Given the description of an element on the screen output the (x, y) to click on. 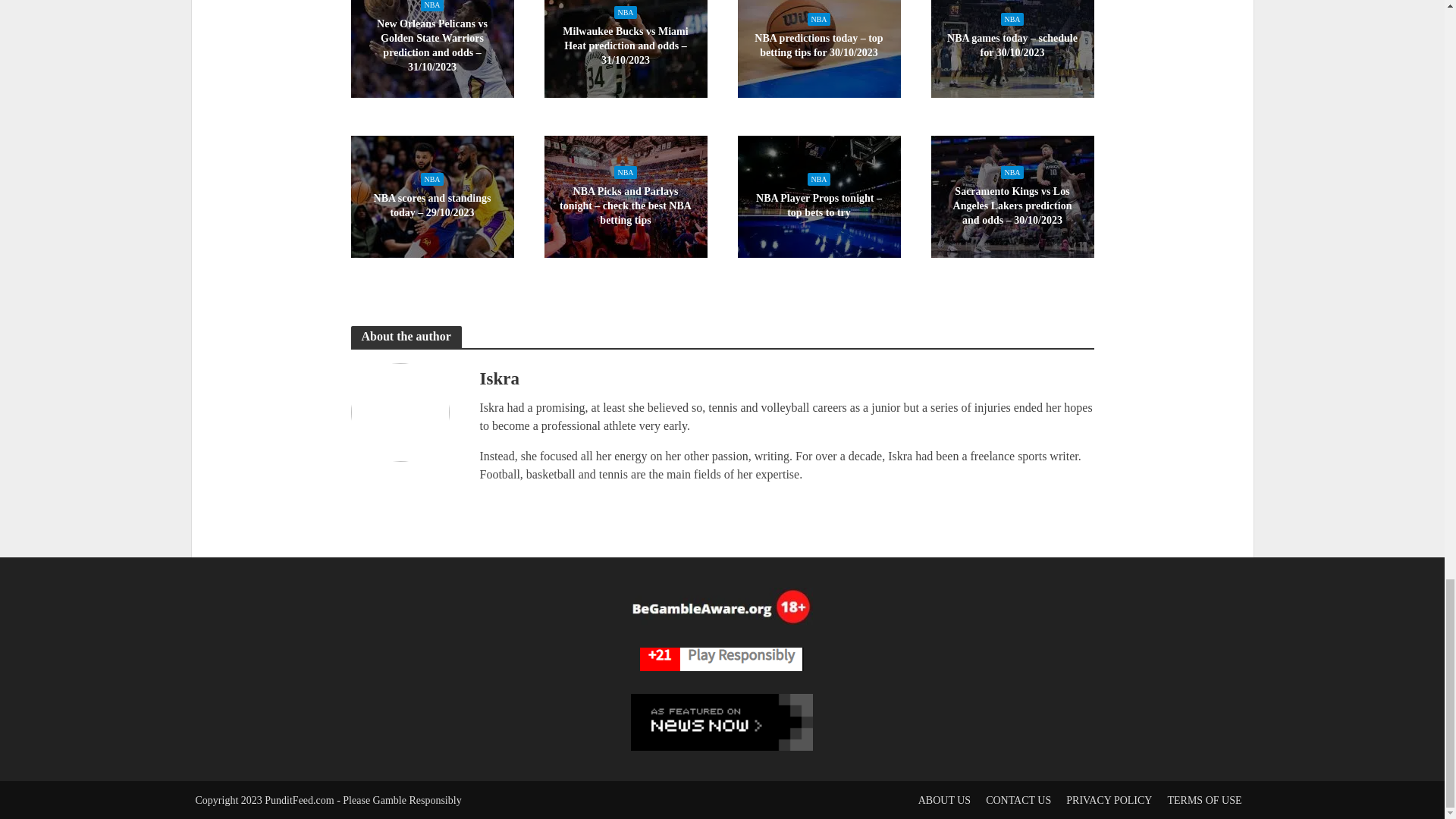
NBA Player Props tonight - top bets to try 8 (817, 196)
